Given the description of an element on the screen output the (x, y) to click on. 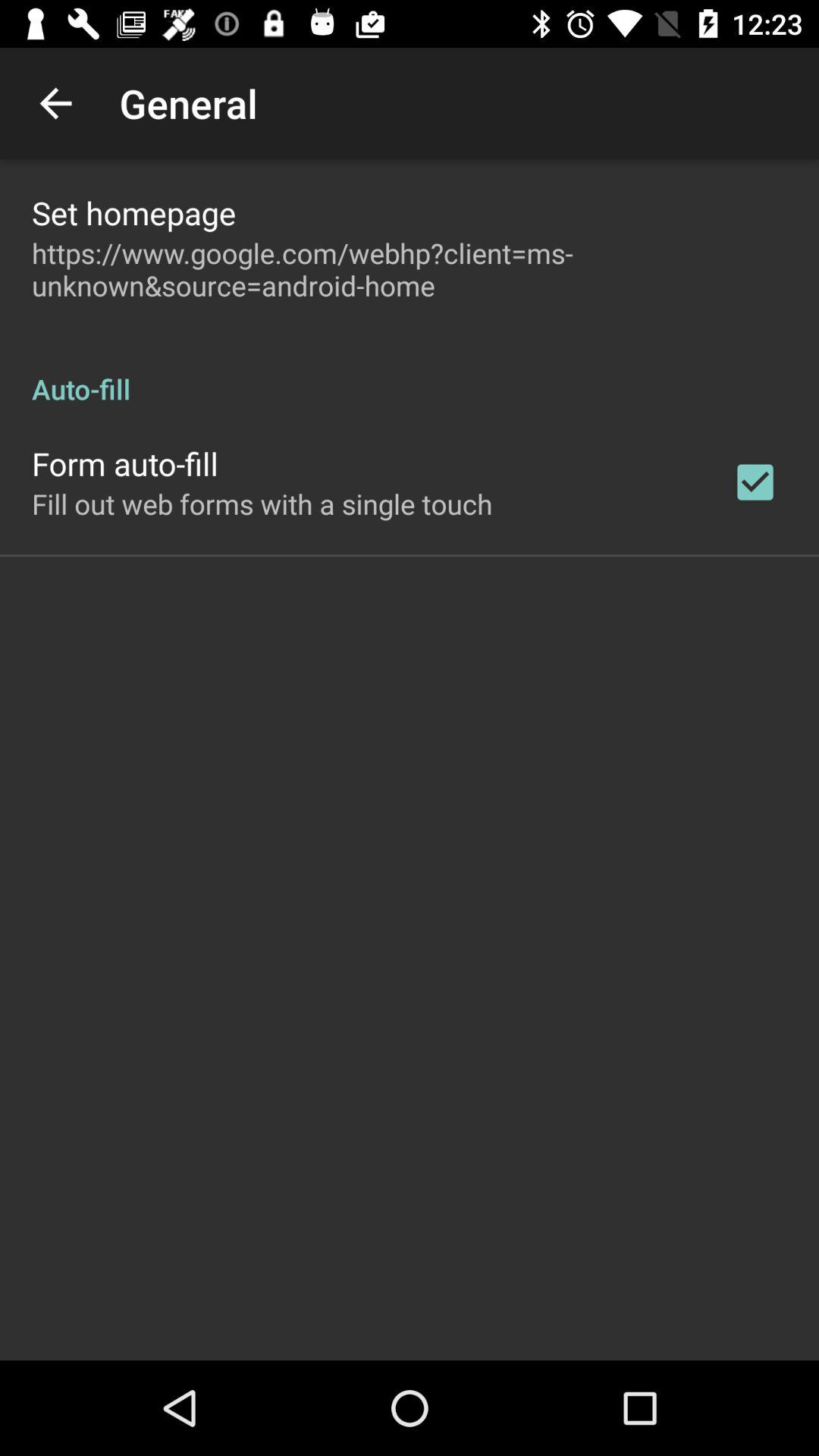
flip until fill out web icon (261, 503)
